Given the description of an element on the screen output the (x, y) to click on. 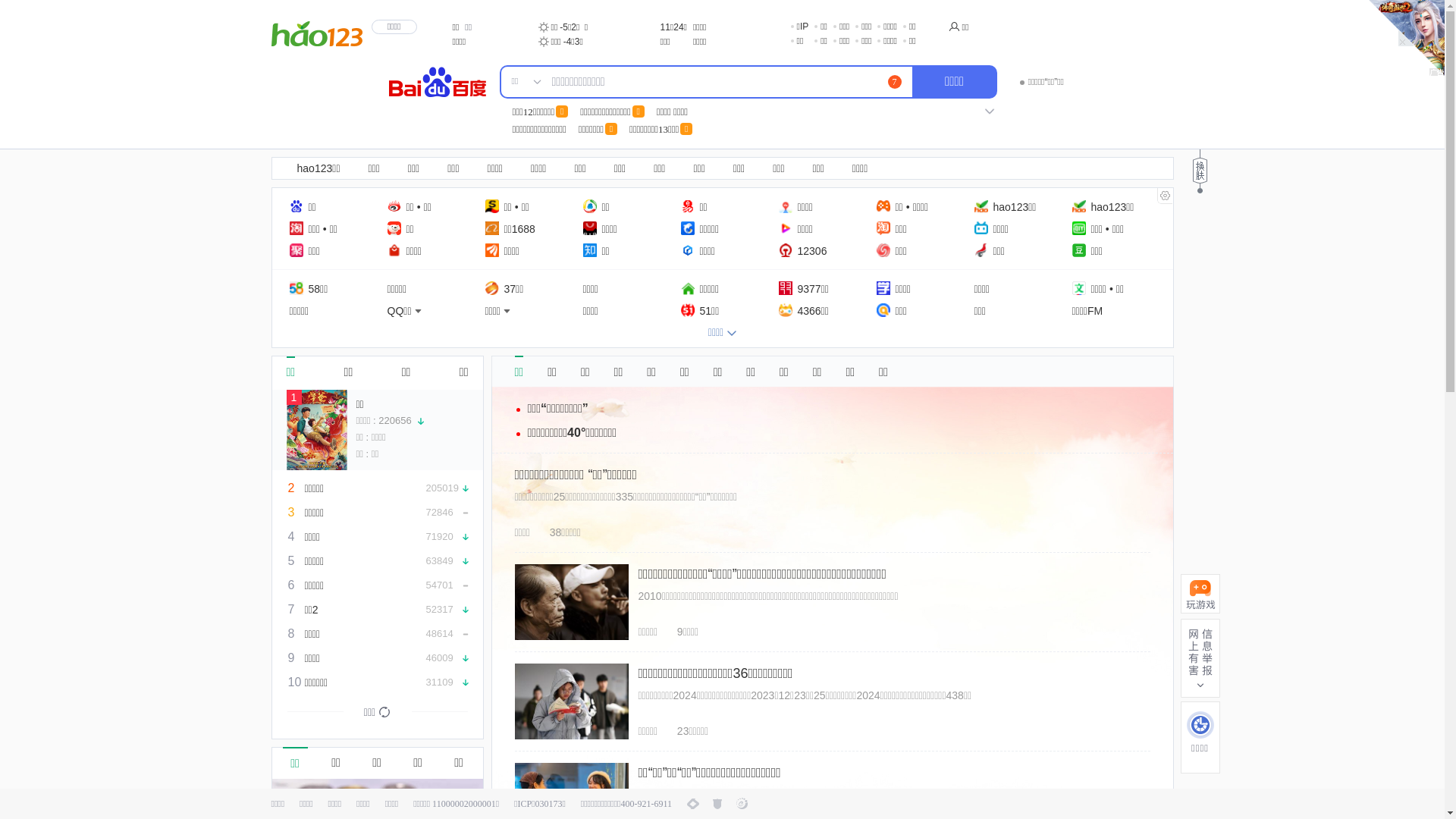
12306 Element type: text (802, 250)
7 Element type: text (893, 81)
